Given the description of an element on the screen output the (x, y) to click on. 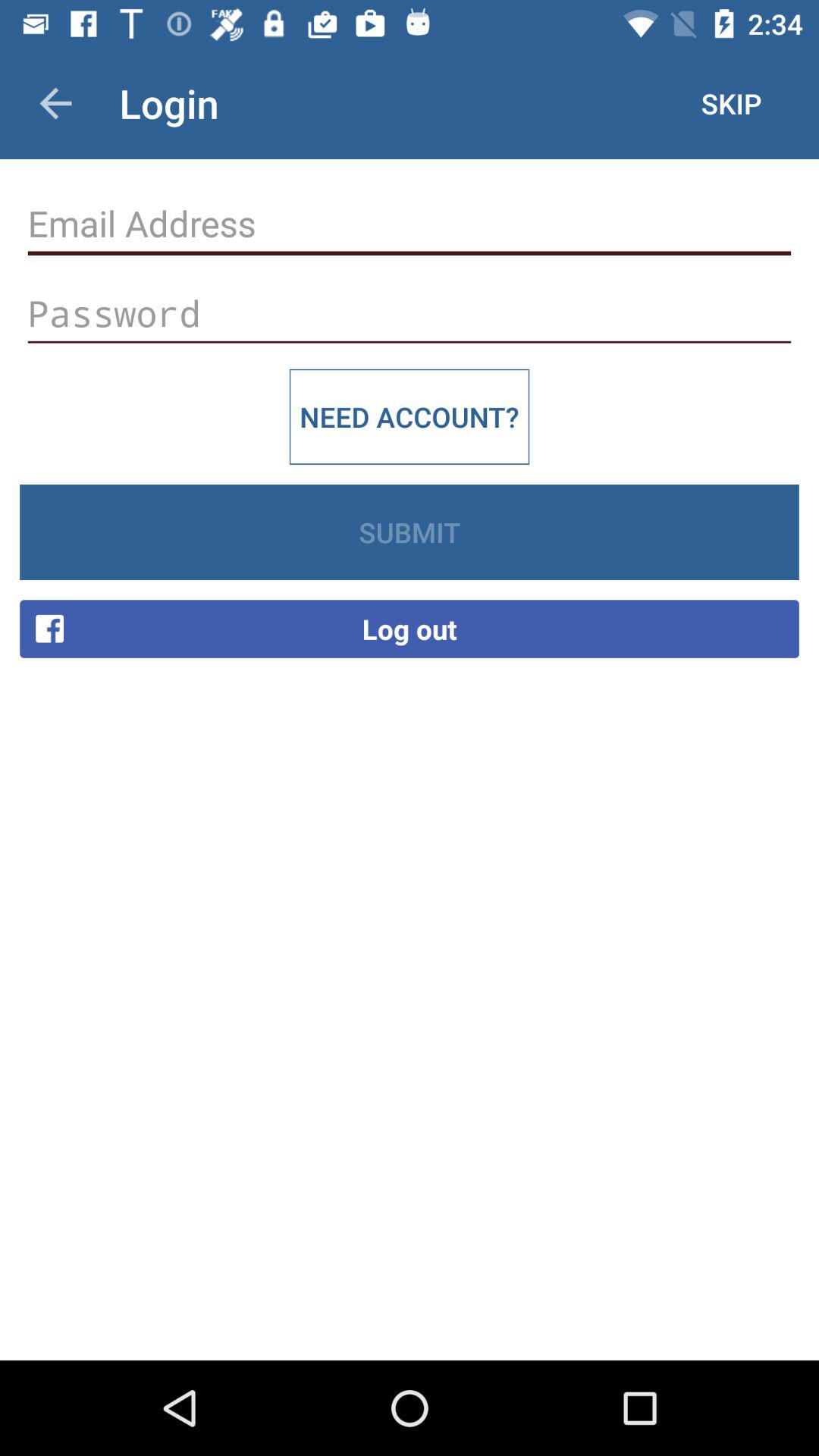
tap the icon below the need account? item (409, 532)
